Given the description of an element on the screen output the (x, y) to click on. 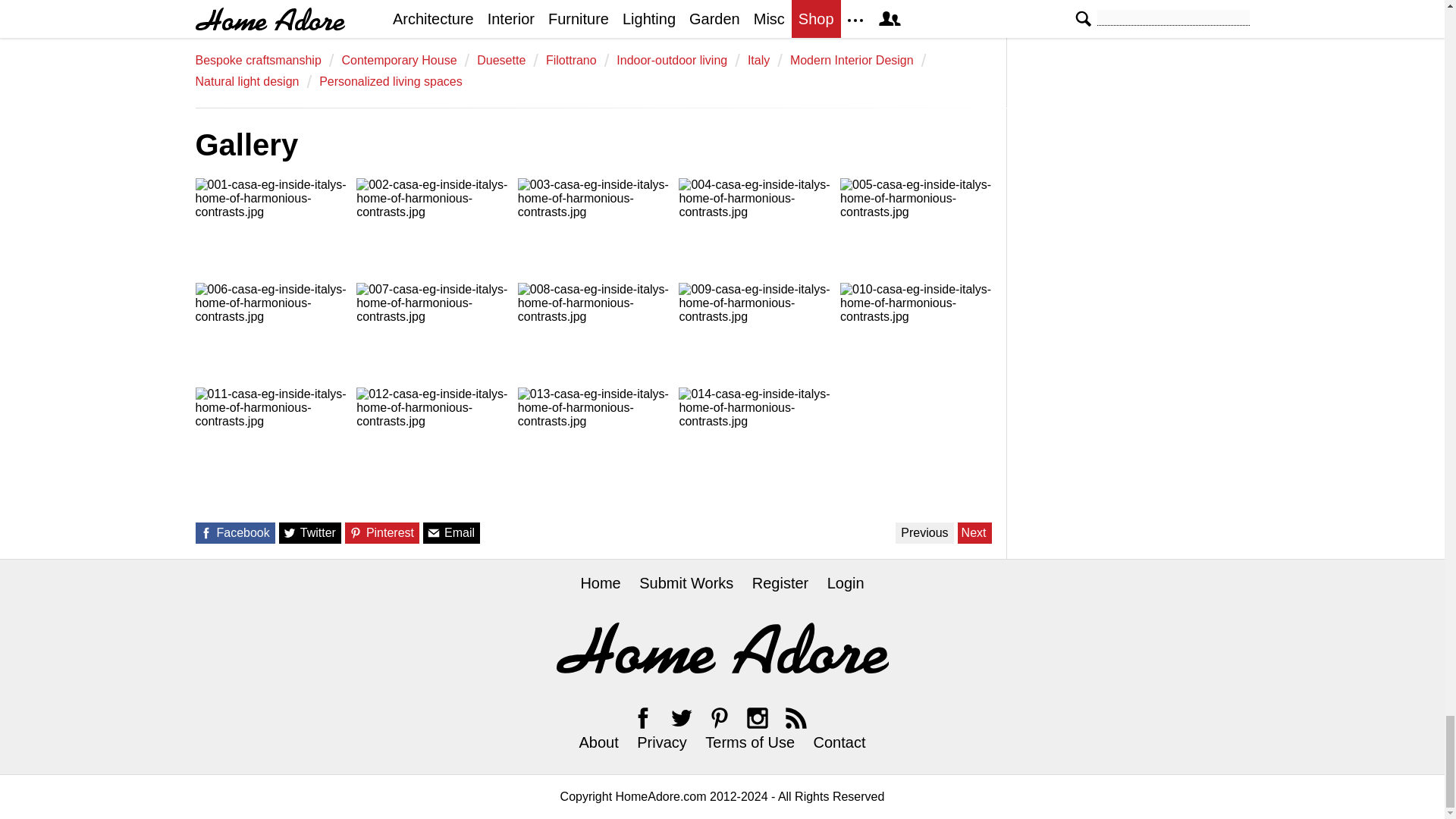
Twitter (681, 718)
Modern Interior Design (852, 60)
indoor-outdoor living (670, 60)
Duesette (501, 60)
Share with a Friend (433, 532)
personalized living spaces (390, 81)
natural light design (247, 81)
Contemporary House (398, 60)
HomeAdore (722, 648)
Share on Twitter (289, 532)
